Given the description of an element on the screen output the (x, y) to click on. 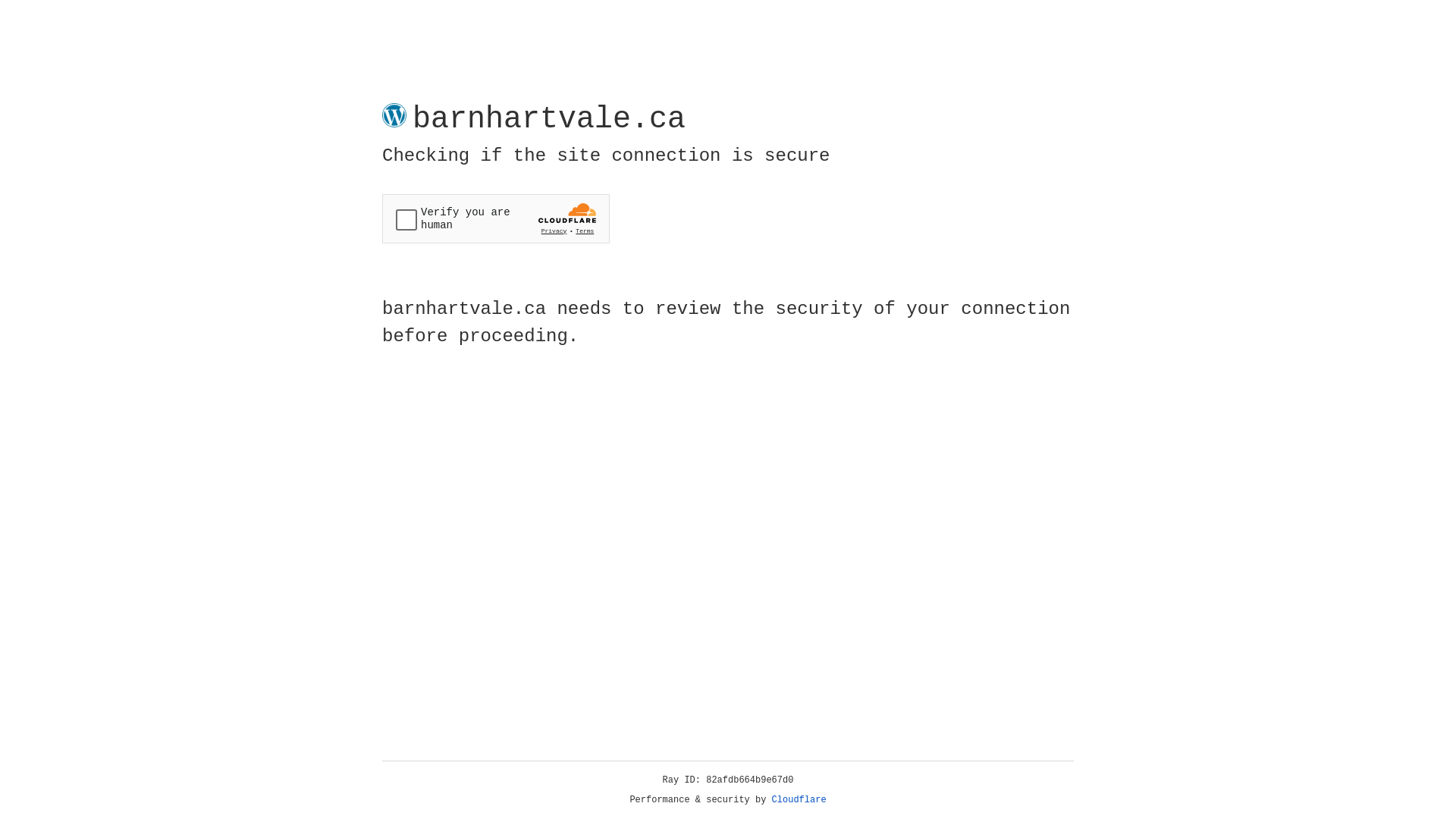
Widget containing a Cloudflare security challenge Element type: hover (495, 218)
Cloudflare Element type: text (798, 799)
